Given the description of an element on the screen output the (x, y) to click on. 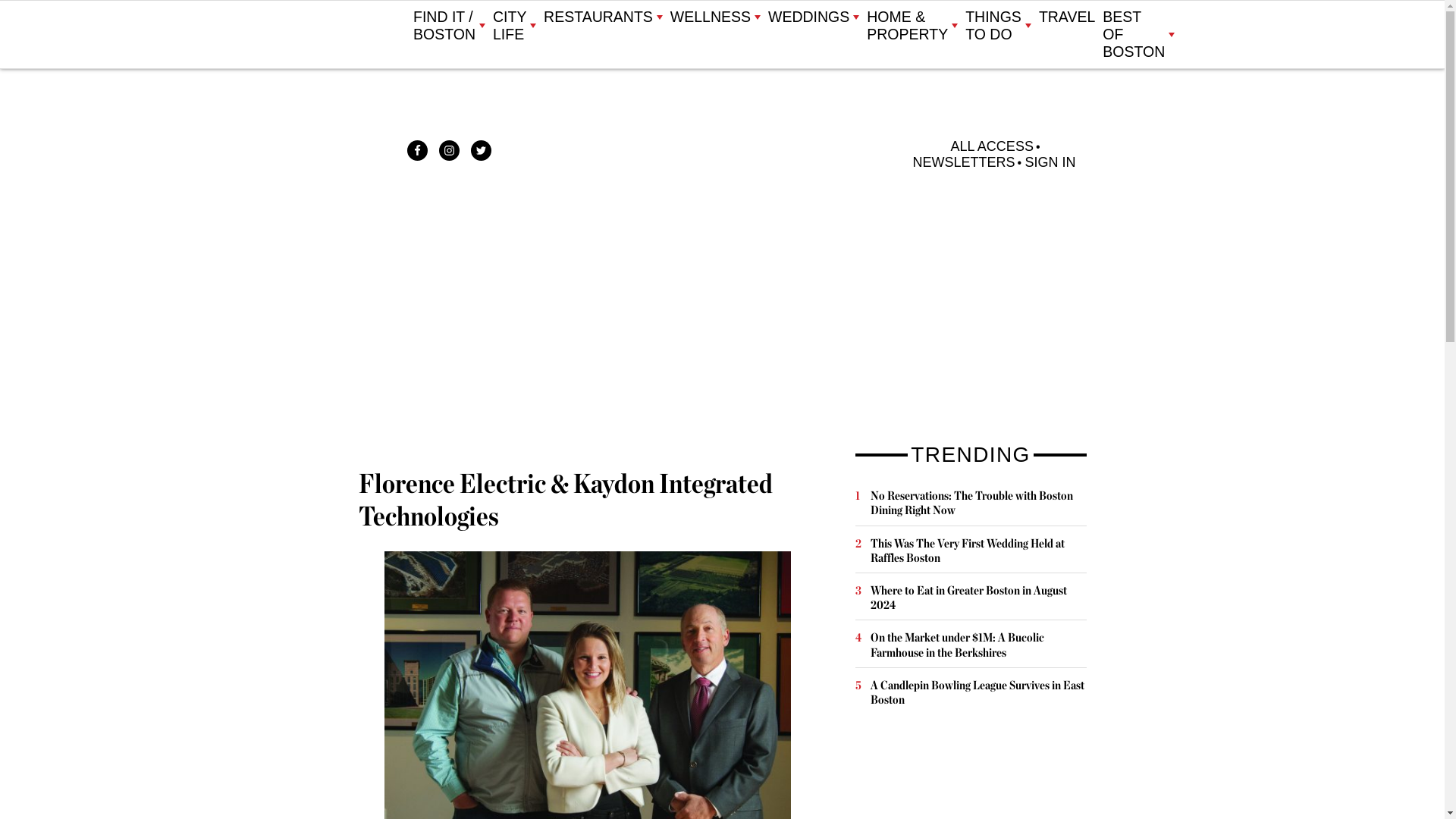
WEDDINGS (813, 16)
THINGS TO DO (997, 25)
RESTAURANTS (602, 16)
3rd party ad content (969, 766)
WELLNESS (714, 16)
